Given the description of an element on the screen output the (x, y) to click on. 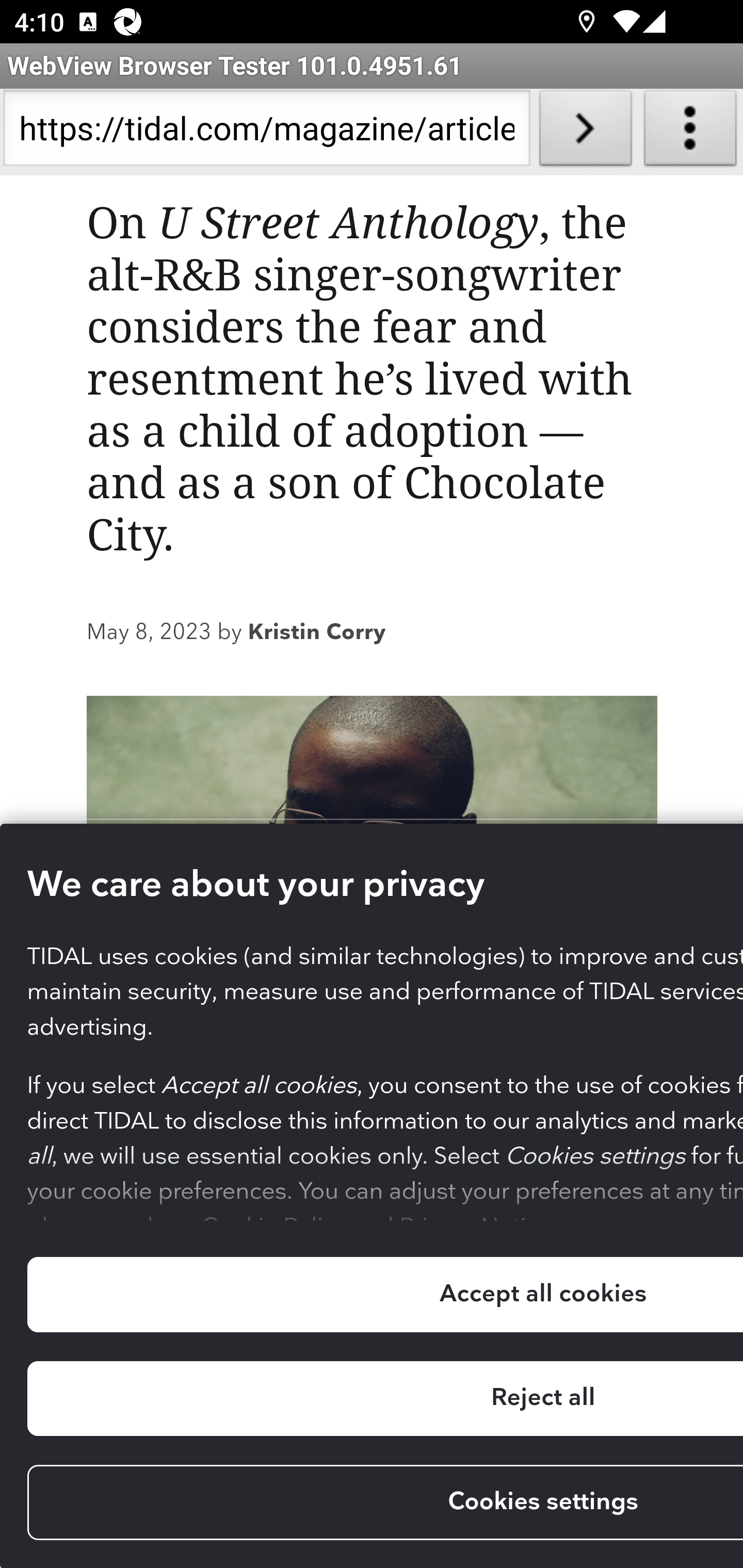
Load URL (585, 132)
About WebView (690, 132)
Kristin Corry (317, 634)
Accept all cookies (384, 1294)
Reject all (384, 1400)
Cookies settings (384, 1503)
